Given the description of an element on the screen output the (x, y) to click on. 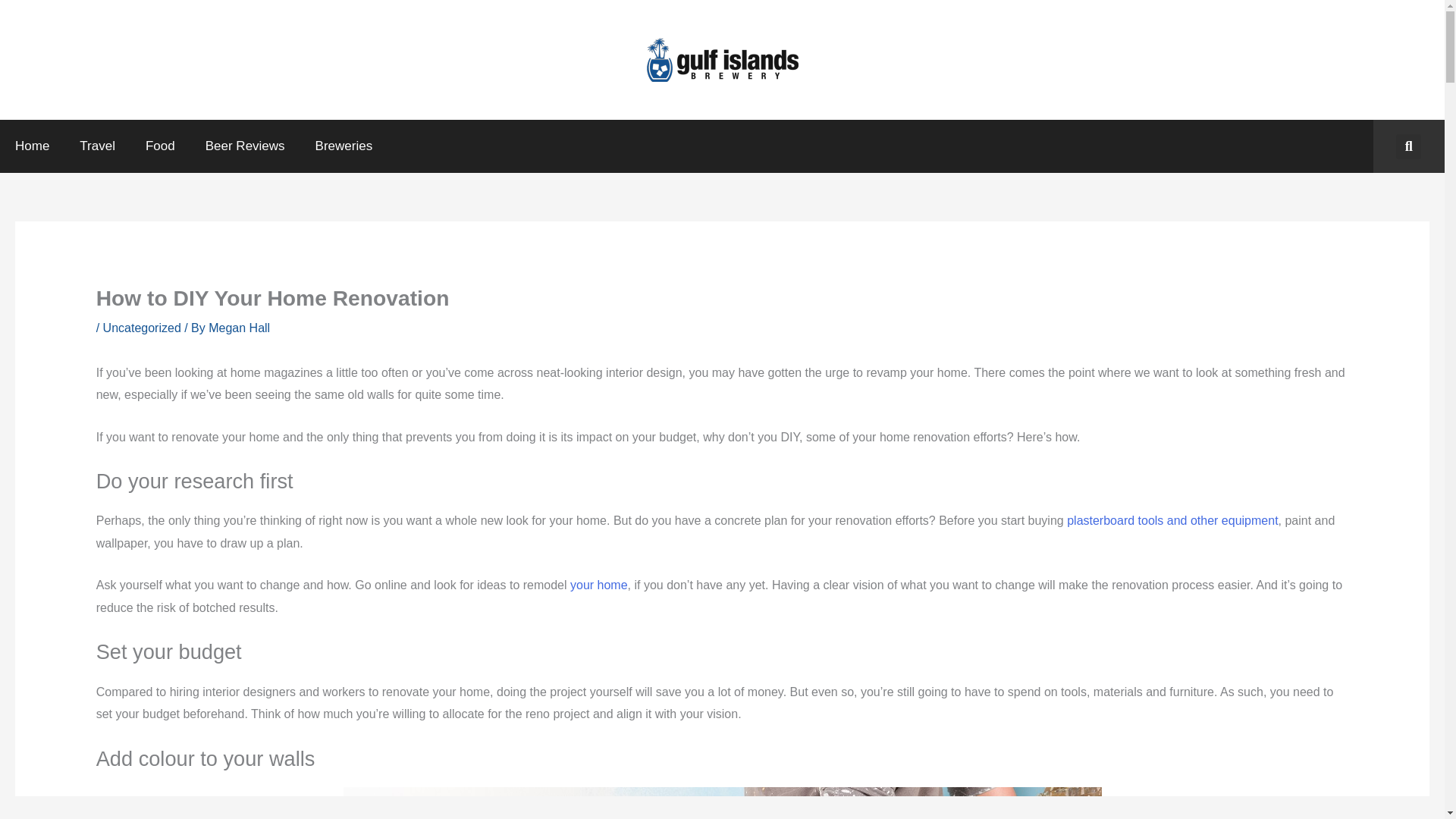
Travel (97, 145)
Breweries (343, 145)
Beer Reviews (244, 145)
Uncategorized (141, 327)
View all posts by Megan Hall (238, 327)
Home (32, 145)
plasterboard tools and other equipment (1172, 520)
Megan Hall (238, 327)
Food (160, 145)
your home (598, 584)
Bryson (1172, 520)
